Given the description of an element on the screen output the (x, y) to click on. 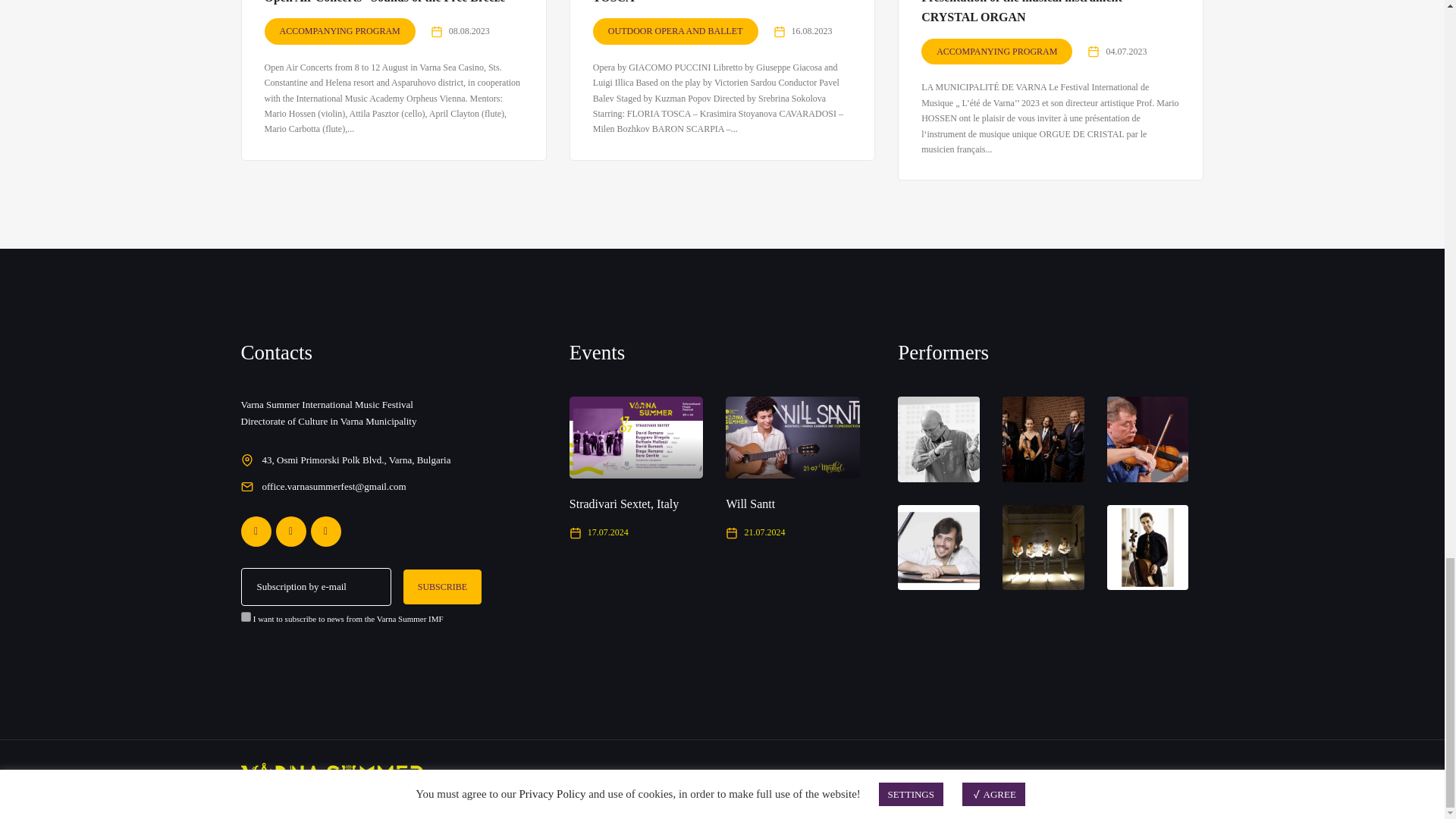
subscribe (245, 616)
Subscribe (442, 586)
